Given the description of an element on the screen output the (x, y) to click on. 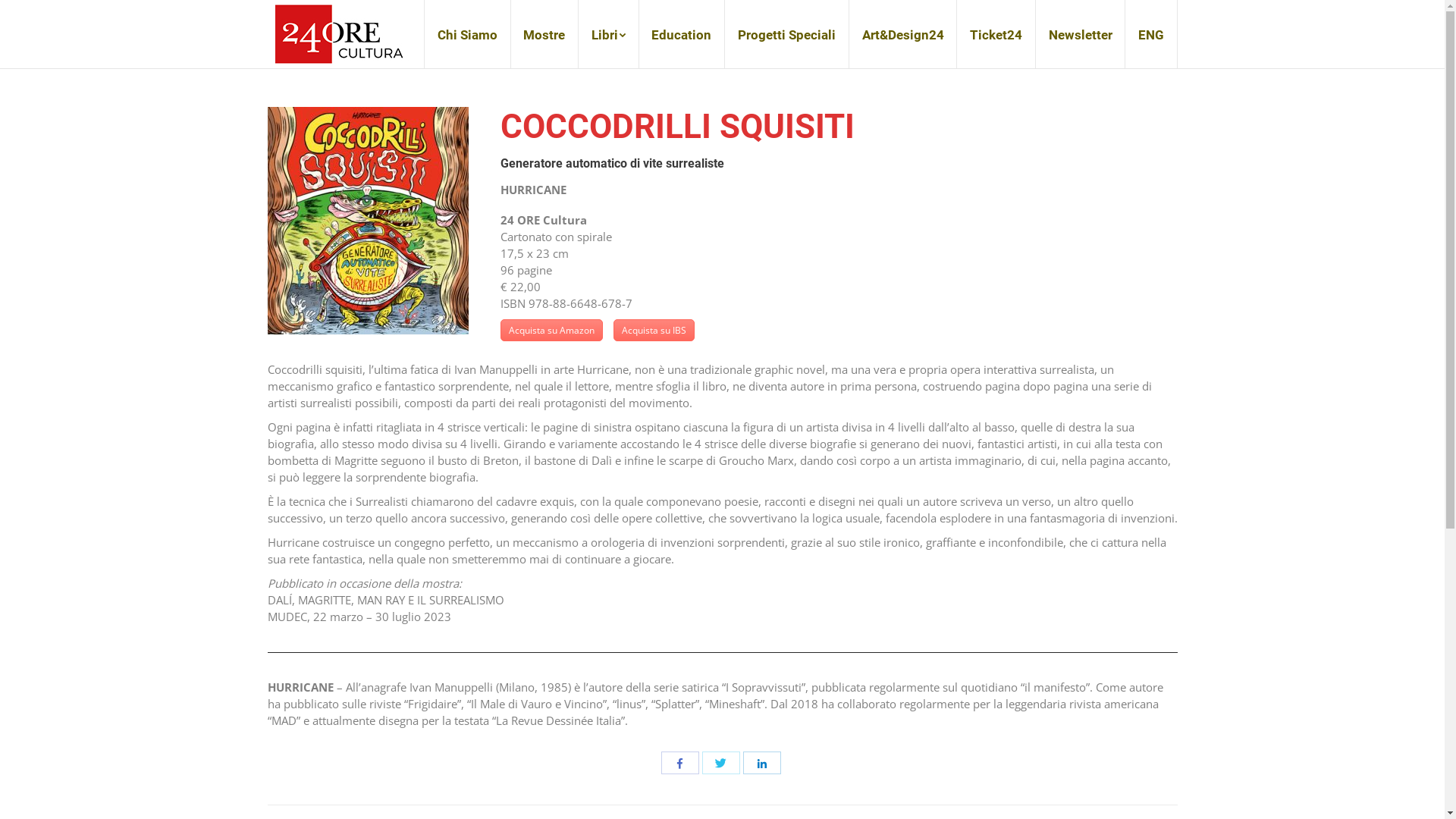
ENG Element type: text (1151, 34)
Acquista su Amazon Element type: text (551, 330)
Libri Element type: text (608, 34)
Chi Siamo Element type: text (466, 34)
Condividi su LinkedIn Element type: text (762, 762)
Education Element type: text (681, 34)
Mostre Element type: text (544, 34)
Condividi su Twitter Element type: text (721, 762)
Acquista su IBS Element type: text (653, 330)
Newsletter Element type: text (1080, 34)
Progetti Speciali Element type: text (786, 34)
Art&Design24 Element type: text (902, 34)
Ticket24 Element type: text (996, 34)
Condividi su Facebook Element type: text (680, 762)
